Given the description of an element on the screen output the (x, y) to click on. 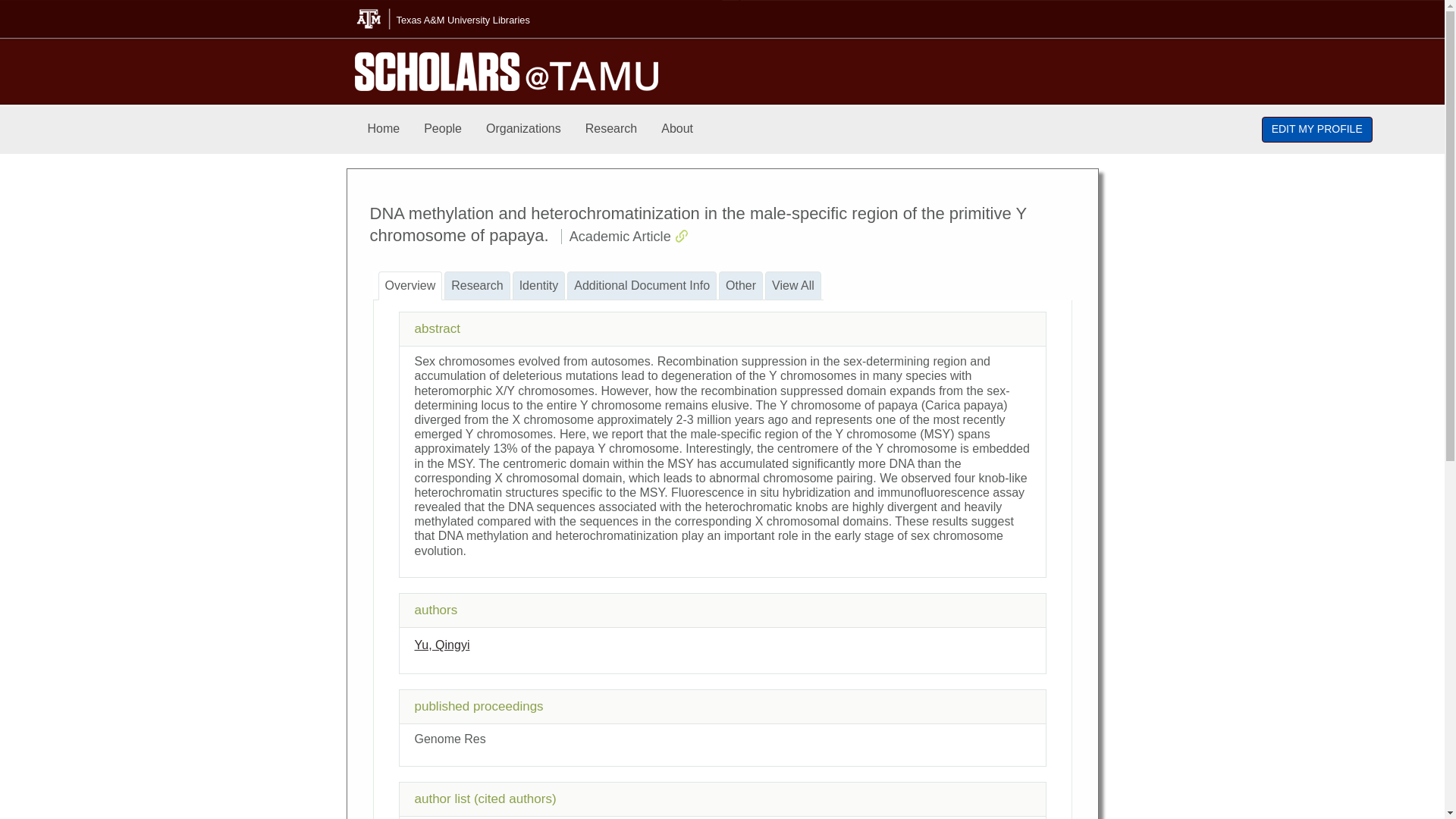
About menu item (676, 128)
Organizations (523, 128)
author name (440, 644)
People (443, 128)
Research (611, 128)
EDIT MY PROFILE (1317, 129)
Yu, Qingyi (440, 644)
Home menu item (383, 128)
People menu item (443, 128)
About (676, 128)
Research menu item (611, 128)
Organizations menu item (523, 128)
Home (383, 128)
